Given the description of an element on the screen output the (x, y) to click on. 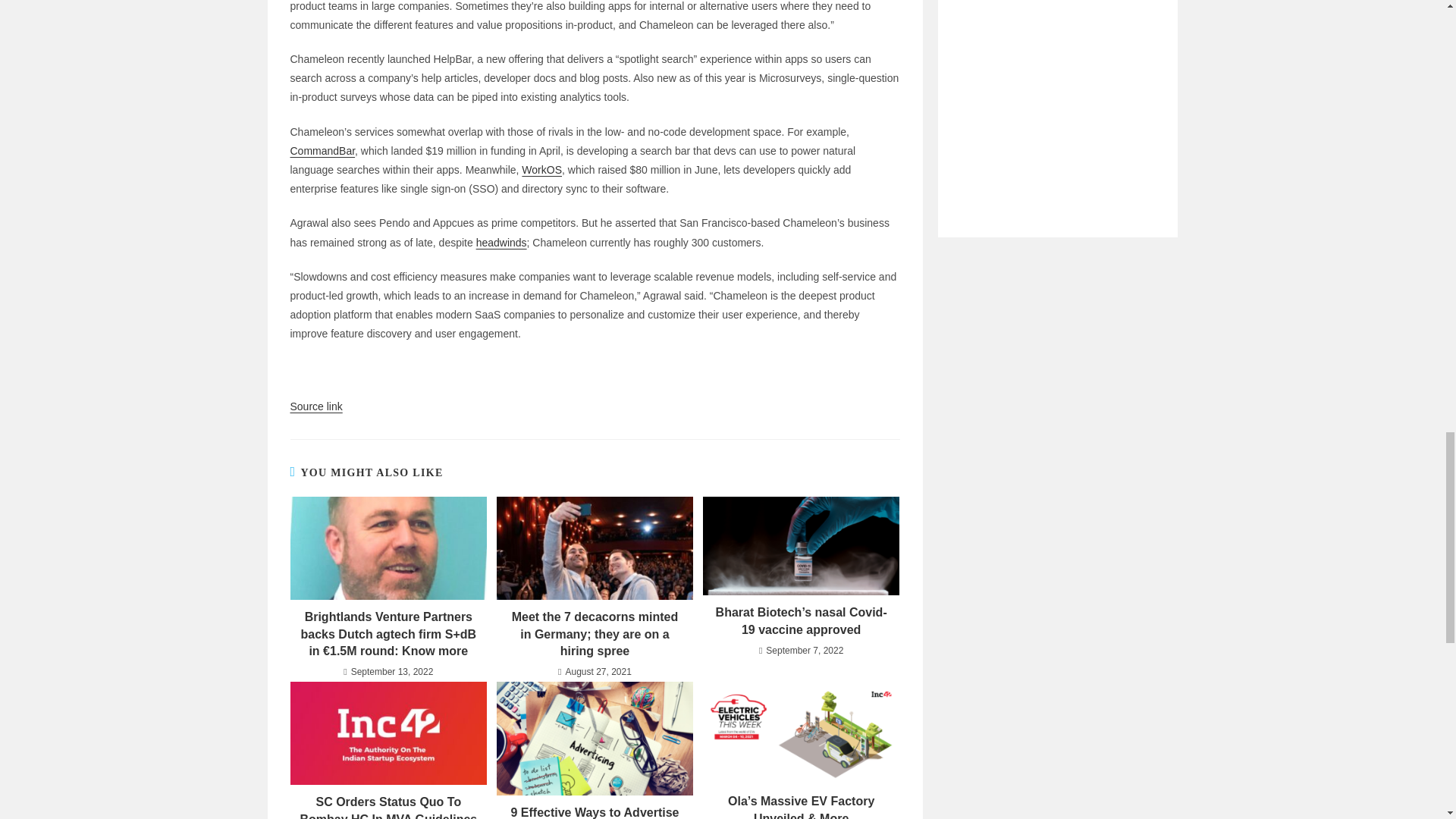
Source link (315, 406)
9 Effective Ways to Advertise Your Business (594, 811)
WorkOS (541, 169)
Advertisement (1056, 96)
SC Orders Status Quo To Bombay HC In MVA Guidelines Case (387, 806)
headwinds (501, 242)
CommandBar (322, 150)
